Given the description of an element on the screen output the (x, y) to click on. 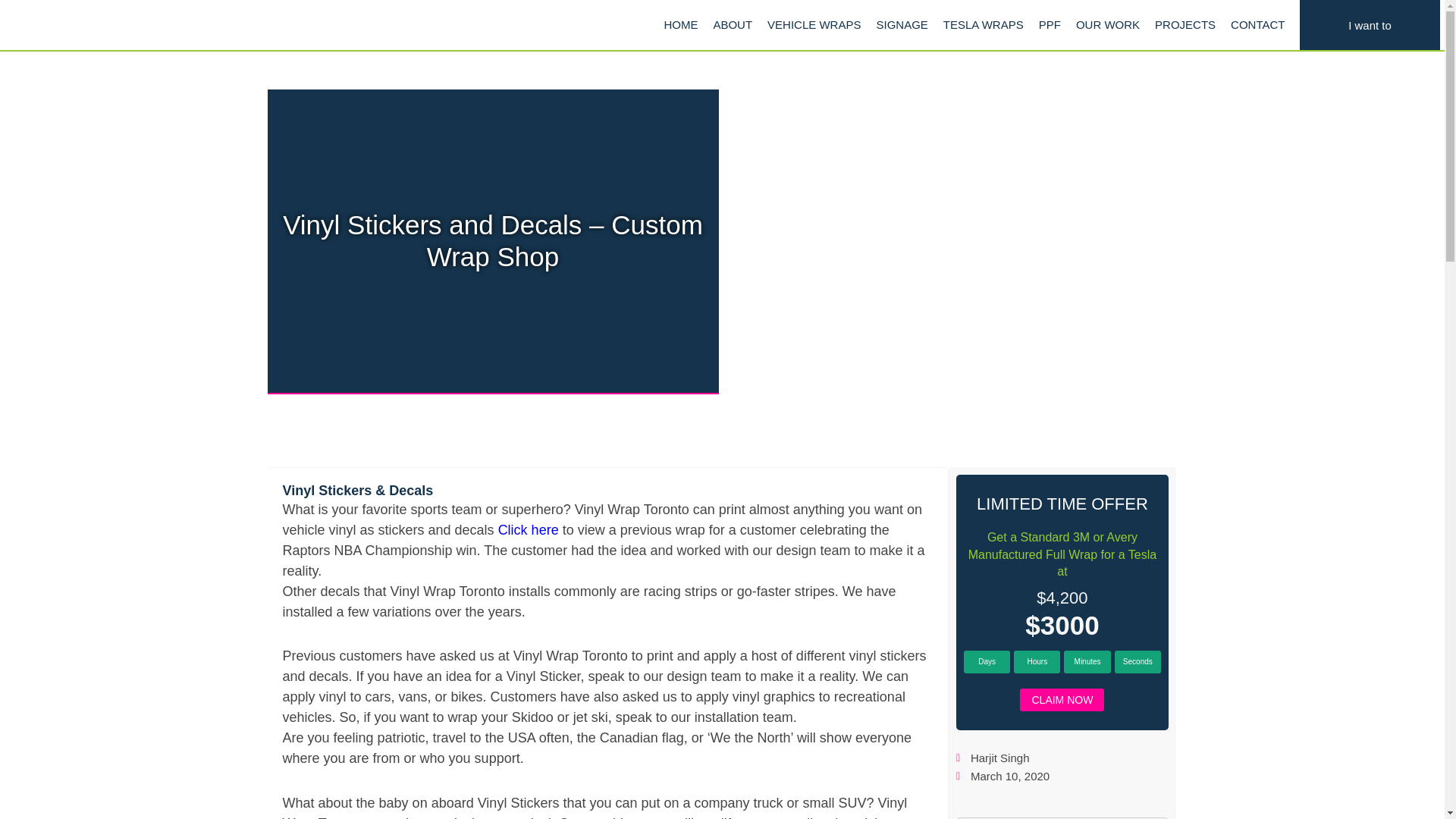
ABOUT (732, 24)
HOME (680, 24)
SIGNAGE (900, 24)
VEHICLE WRAPS (813, 24)
